Given the description of an element on the screen output the (x, y) to click on. 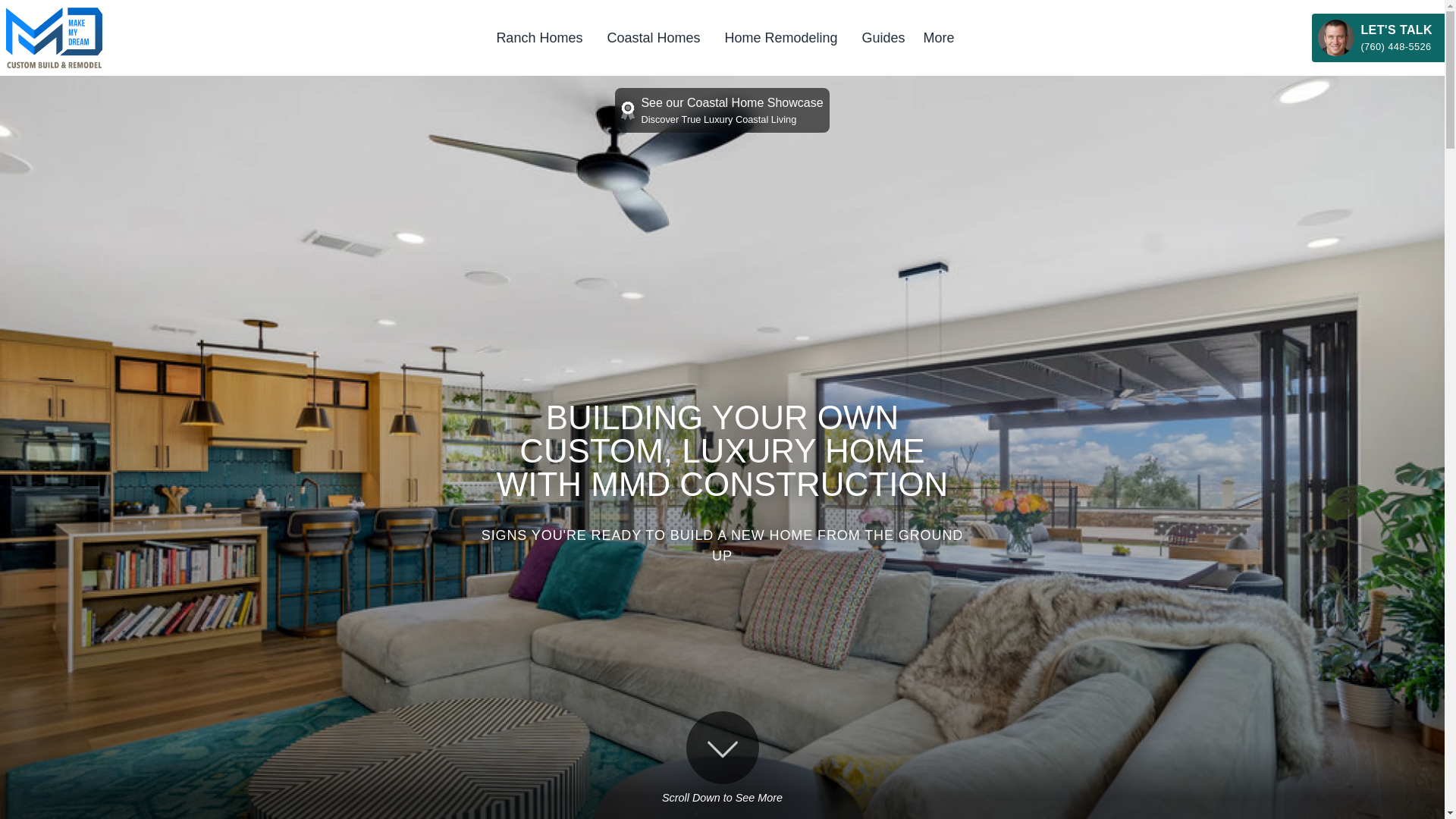
Coastal Custom Builders in Del Mar: MMD Construction (652, 37)
More (939, 37)
Guides (883, 37)
Home Remodeling (780, 37)
Home Remodeling Experts in San Diego I MMD Construction (780, 37)
Free Guides to Build Custom Dream Homes by MMD Construction (883, 37)
Custom Ranch Homes in Rancho Santa Fe: MMD Construction (538, 37)
Ranch Homes (538, 37)
Coastal Homes (652, 37)
